Given the description of an element on the screen output the (x, y) to click on. 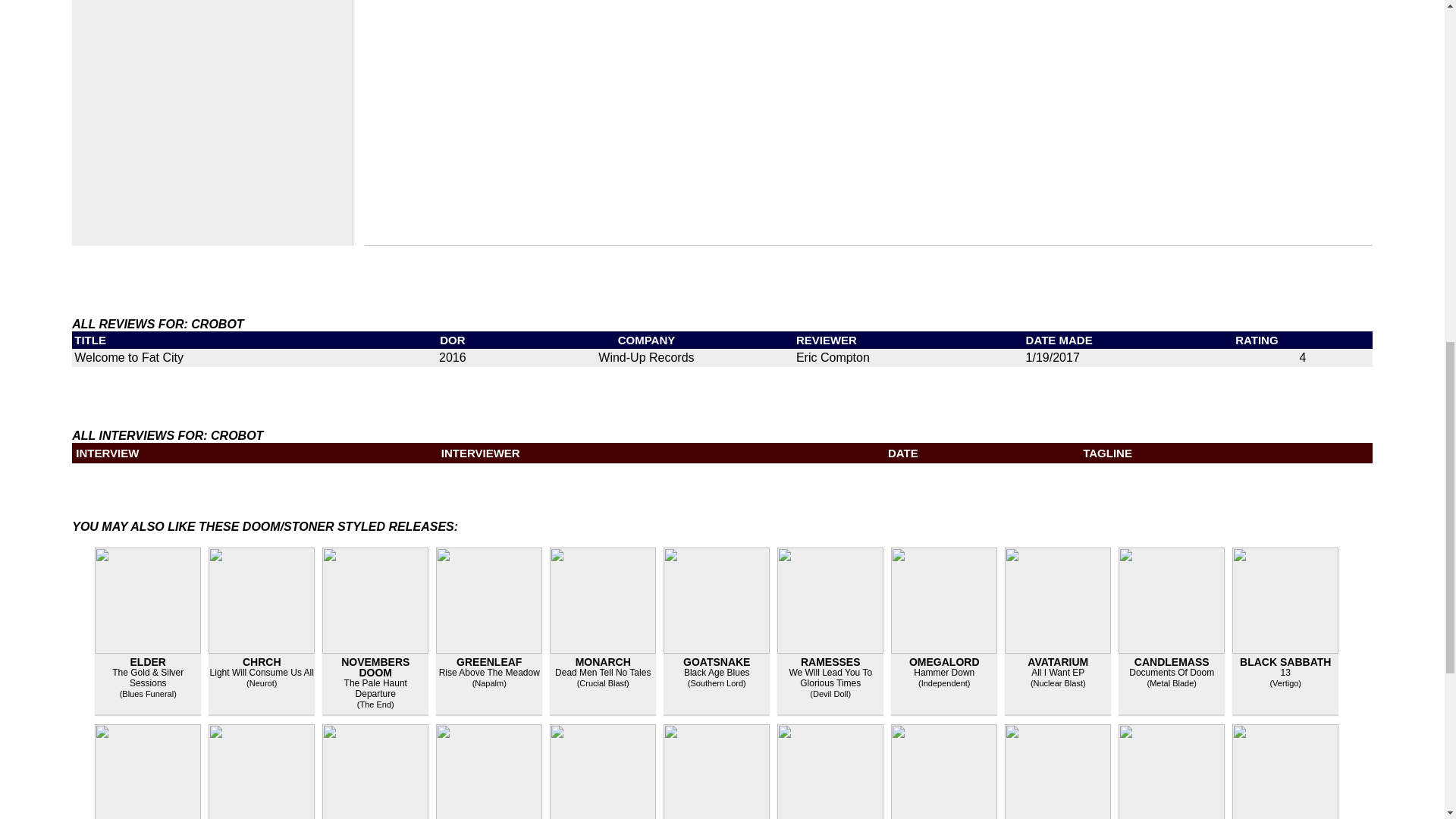
GOATSNAKE (715, 662)
MONARCH (602, 662)
GREENLEAF (489, 662)
All I Want EP (1057, 672)
AVATARIUM (1057, 662)
CHRCH (262, 662)
The Pale Haunt Departure (375, 688)
Dead Men Tell No Tales (602, 672)
RAMESSES (830, 662)
ELDER (148, 662)
OMEGALORD (943, 662)
NOVEMBERS DOOM (374, 667)
Rise Above The Meadow (489, 672)
Black Age Blues (716, 672)
We Will Lead You To Glorious Times (830, 677)
